Given the description of an element on the screen output the (x, y) to click on. 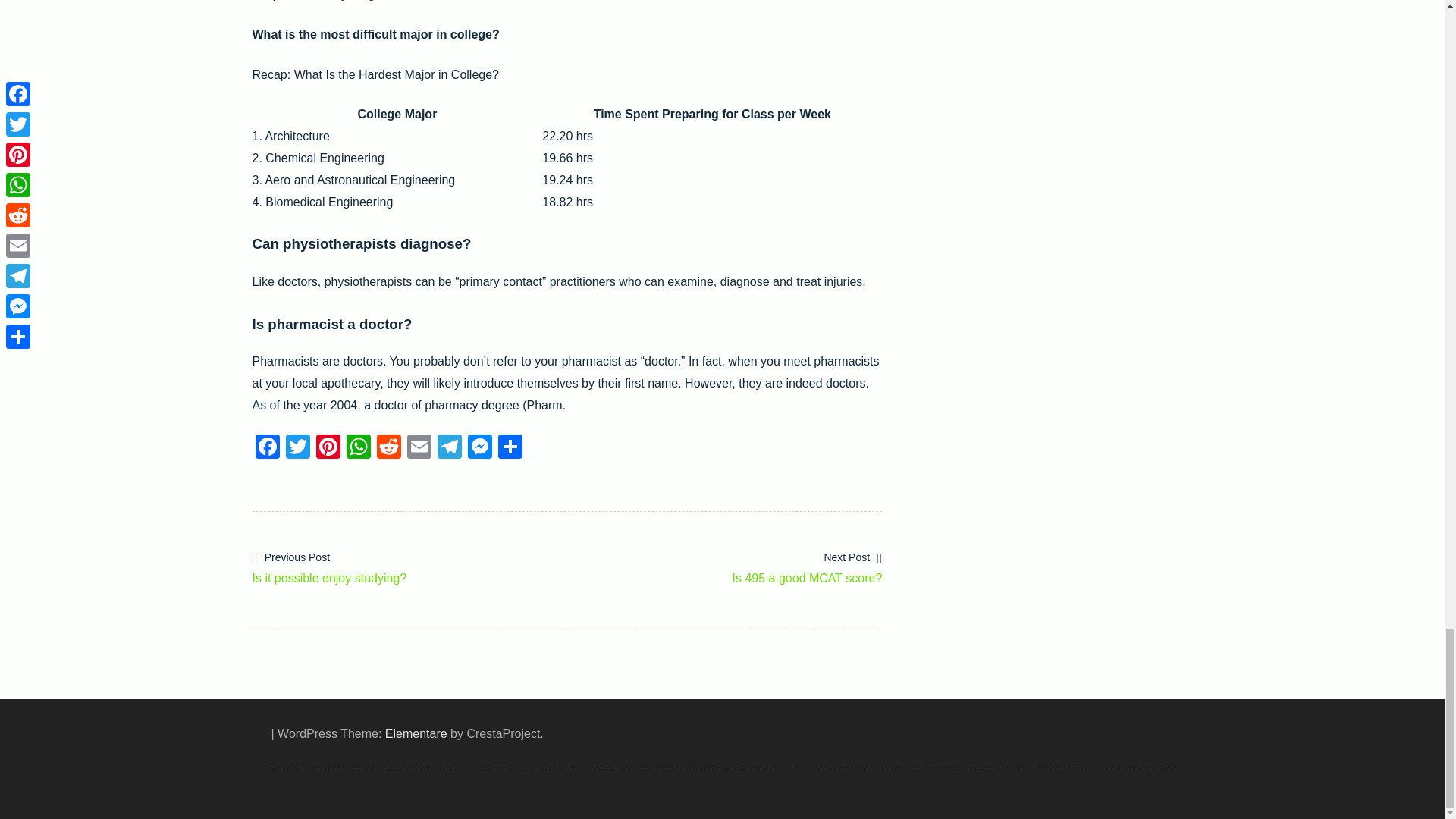
Reddit (387, 448)
Facebook (266, 448)
Pinterest (327, 448)
Twitter (297, 448)
Elementare Theme (408, 565)
Messenger (415, 733)
Facebook (479, 448)
Messenger (724, 565)
